Given the description of an element on the screen output the (x, y) to click on. 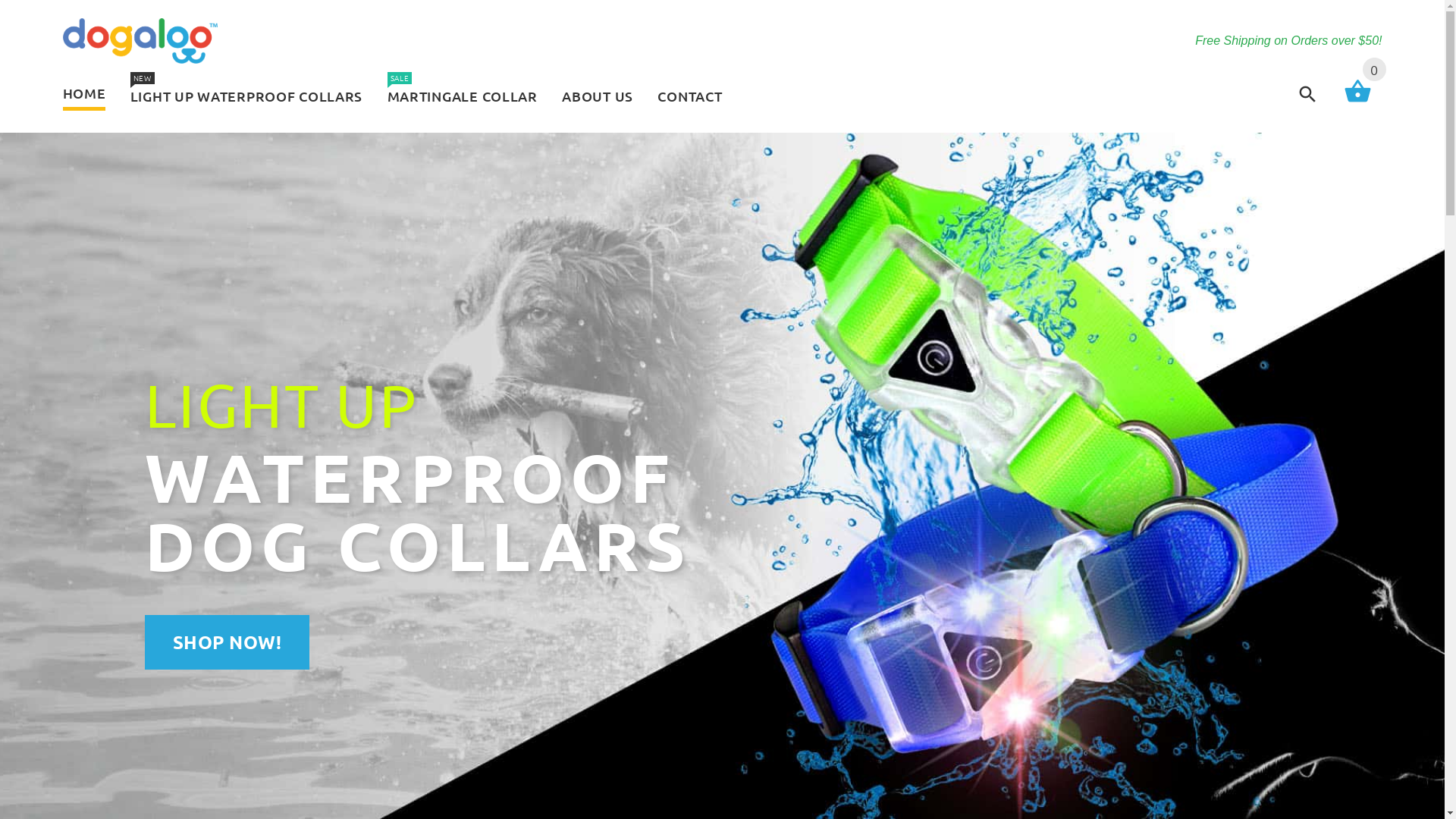
ABOUT US Element type: text (597, 97)
NEW
LIGHT UP WATERPROOF COLLARS Element type: text (246, 97)
HOME Element type: text (89, 94)
0 Element type: text (1357, 99)
SHOP NOW! Element type: text (226, 642)
CONTACT Element type: text (683, 97)
SALE
MARTINGALE COLLAR Element type: text (461, 97)
